Given the description of an element on the screen output the (x, y) to click on. 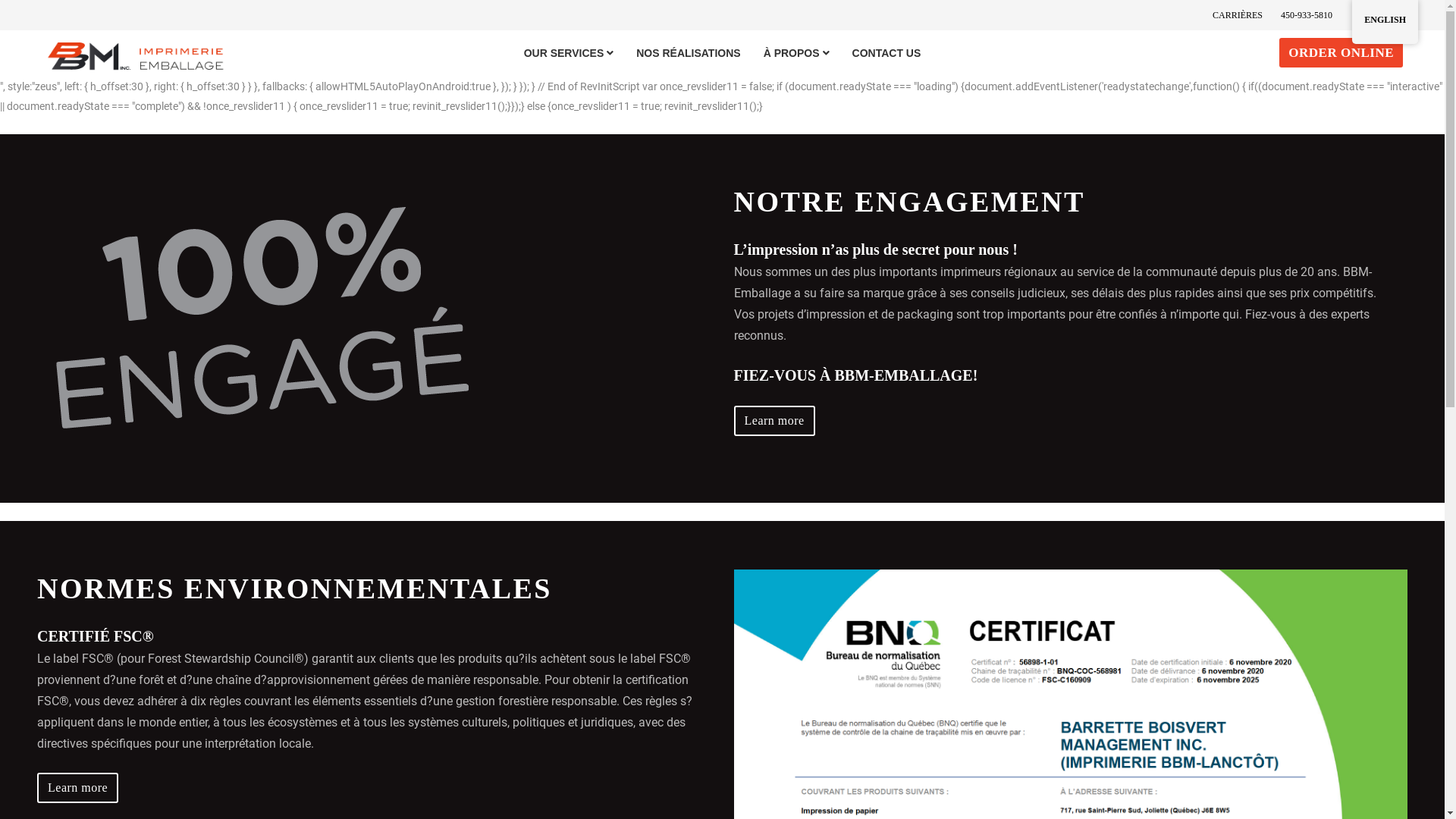
ENGLISH Element type: text (1385, 19)
ENGLISH Element type: text (1385, 21)
Learn more Element type: text (774, 420)
CONTACT US Element type: text (886, 52)
ORDER ONLINE Element type: text (1340, 52)
Learn more Element type: text (77, 787)
450-933-5810 Element type: text (1306, 14)
OUR SERVICES Element type: text (568, 52)
